Given the description of an element on the screen output the (x, y) to click on. 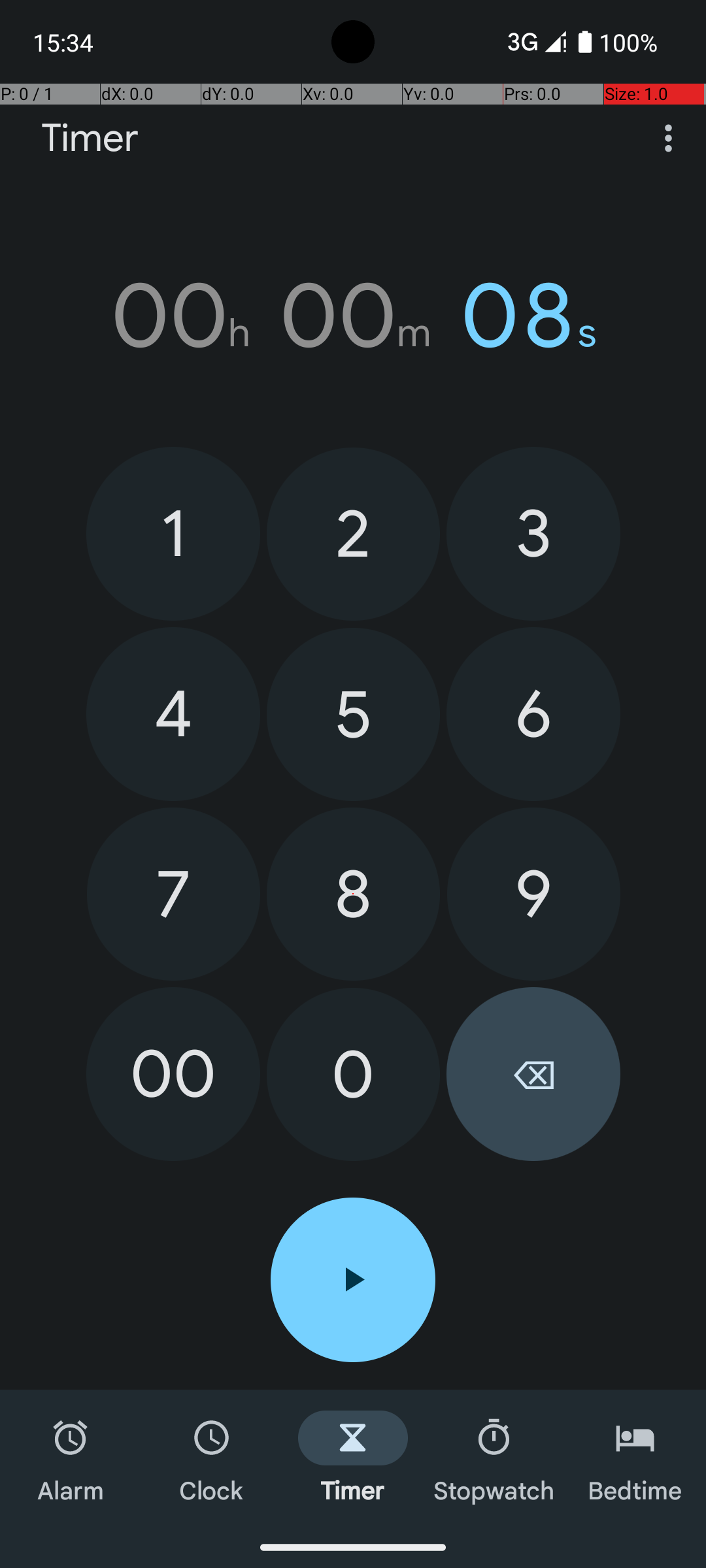
00h 00m 08s Element type: android.widget.TextView (353, 315)
